Given the description of an element on the screen output the (x, y) to click on. 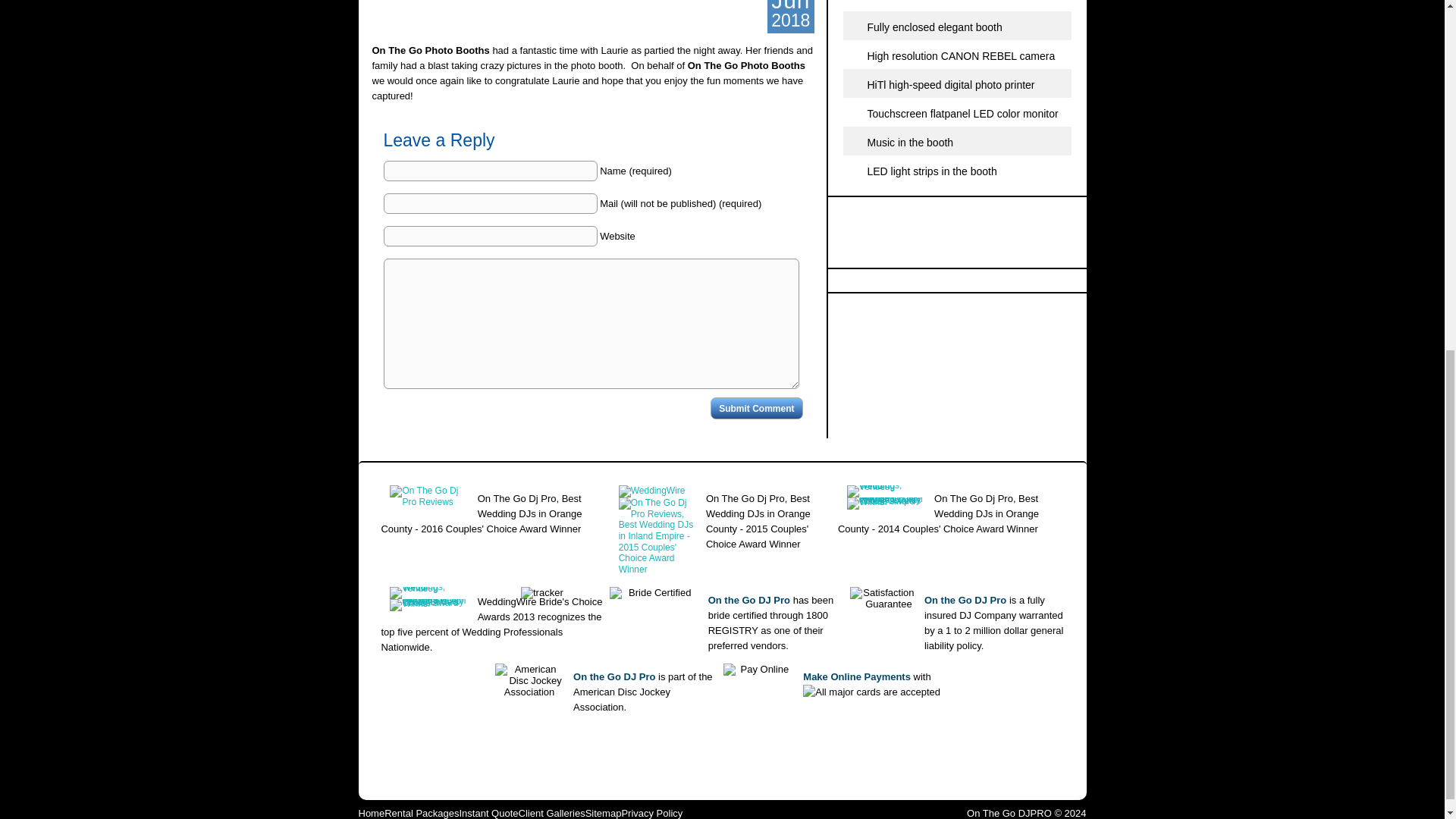
Weddings, Wedding Venues (885, 491)
Submit Comment (756, 408)
Weddings, Wedding Venues (427, 592)
On The Go Dj Pro Reviews (427, 501)
Submit Comment (756, 408)
WeddingWire (651, 490)
